Given the description of an element on the screen output the (x, y) to click on. 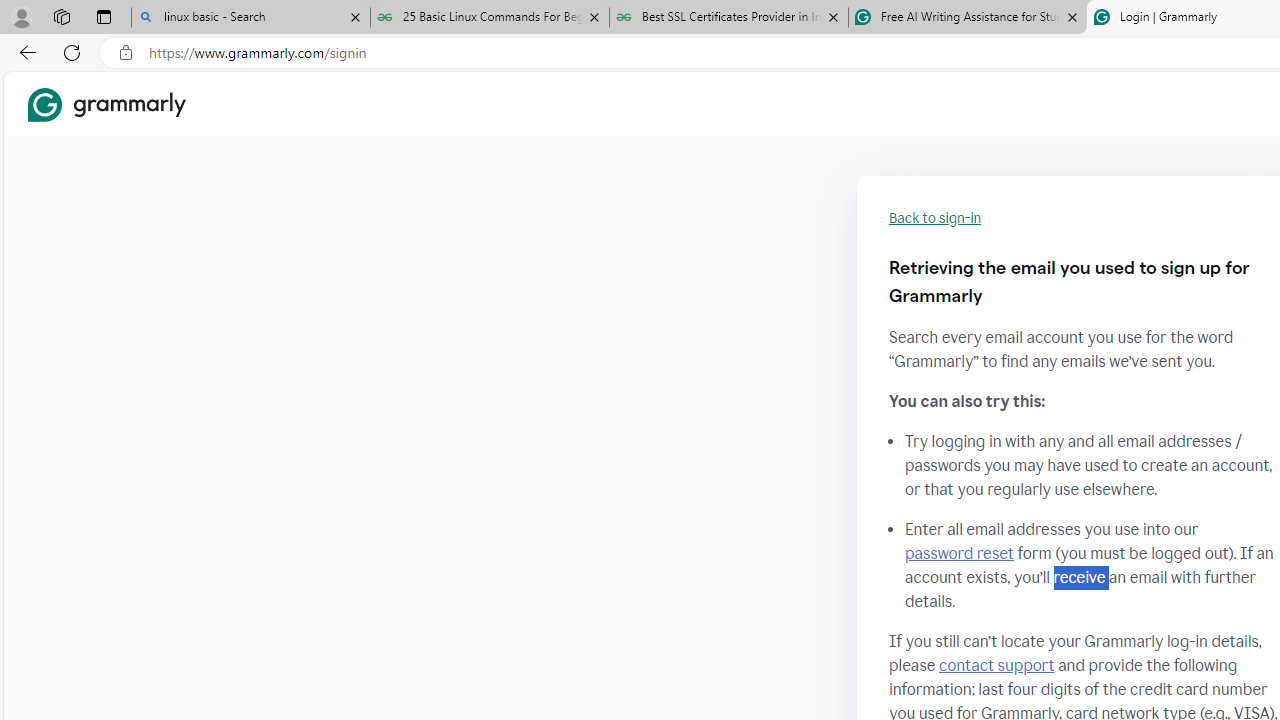
password reset (958, 553)
linux basic - Search (250, 17)
Grammarly Home (106, 104)
25 Basic Linux Commands For Beginners - GeeksforGeeks (490, 17)
Free AI Writing Assistance for Students | Grammarly (967, 17)
Grammarly Home (106, 103)
contact support (996, 665)
Best SSL Certificates Provider in India - GeeksforGeeks (729, 17)
